Given the description of an element on the screen output the (x, y) to click on. 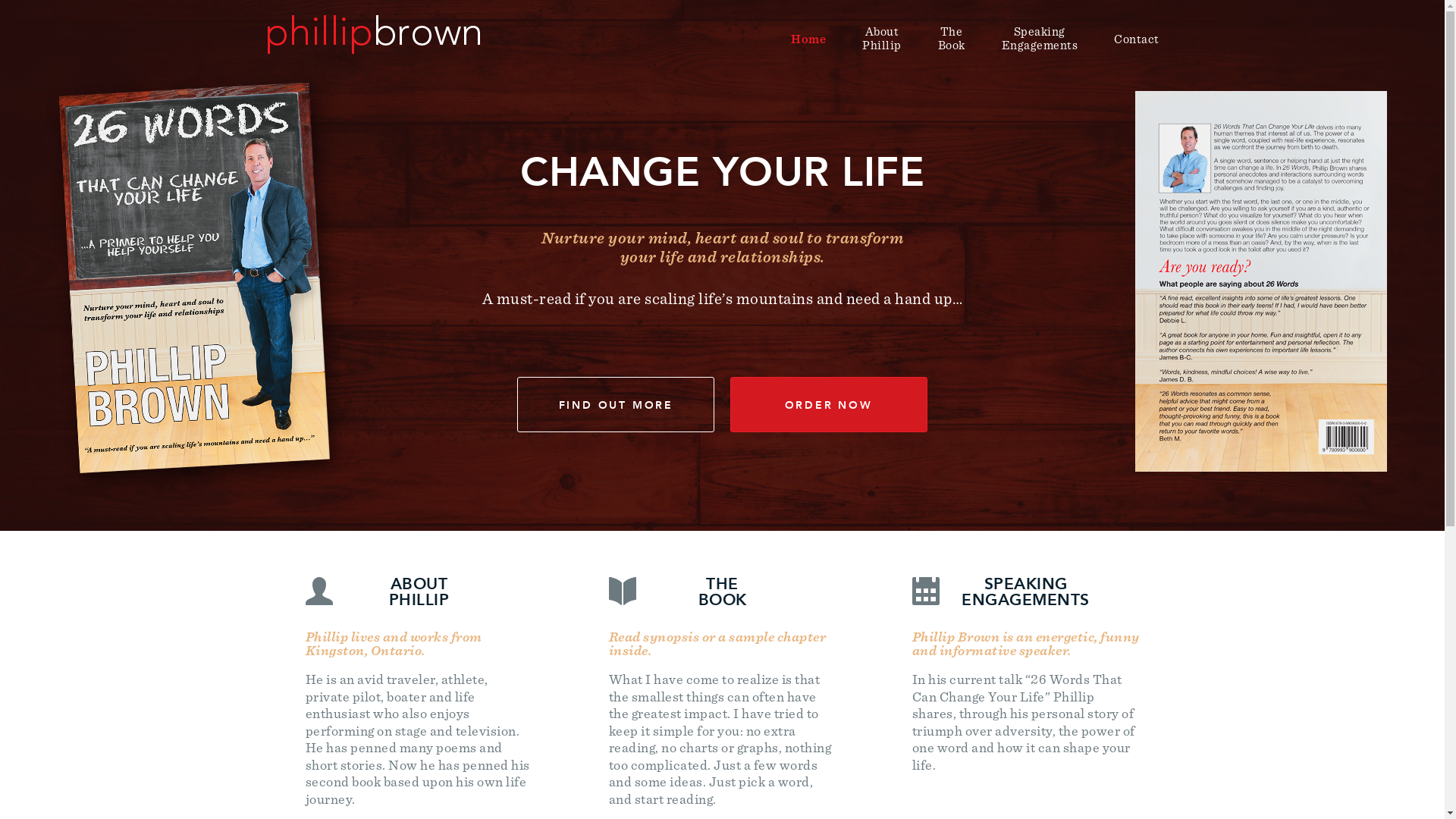
Phillip Brown Element type: text (372, 30)
The
Book Element type: text (950, 38)
Contact Element type: text (1136, 39)
FIND OUT MORE Element type: text (615, 404)
Speaking
Engagements Element type: text (1039, 38)
ORDER NOW Element type: text (828, 404)
About
Phillip Element type: text (881, 38)
Home Element type: text (807, 39)
